Given the description of an element on the screen output the (x, y) to click on. 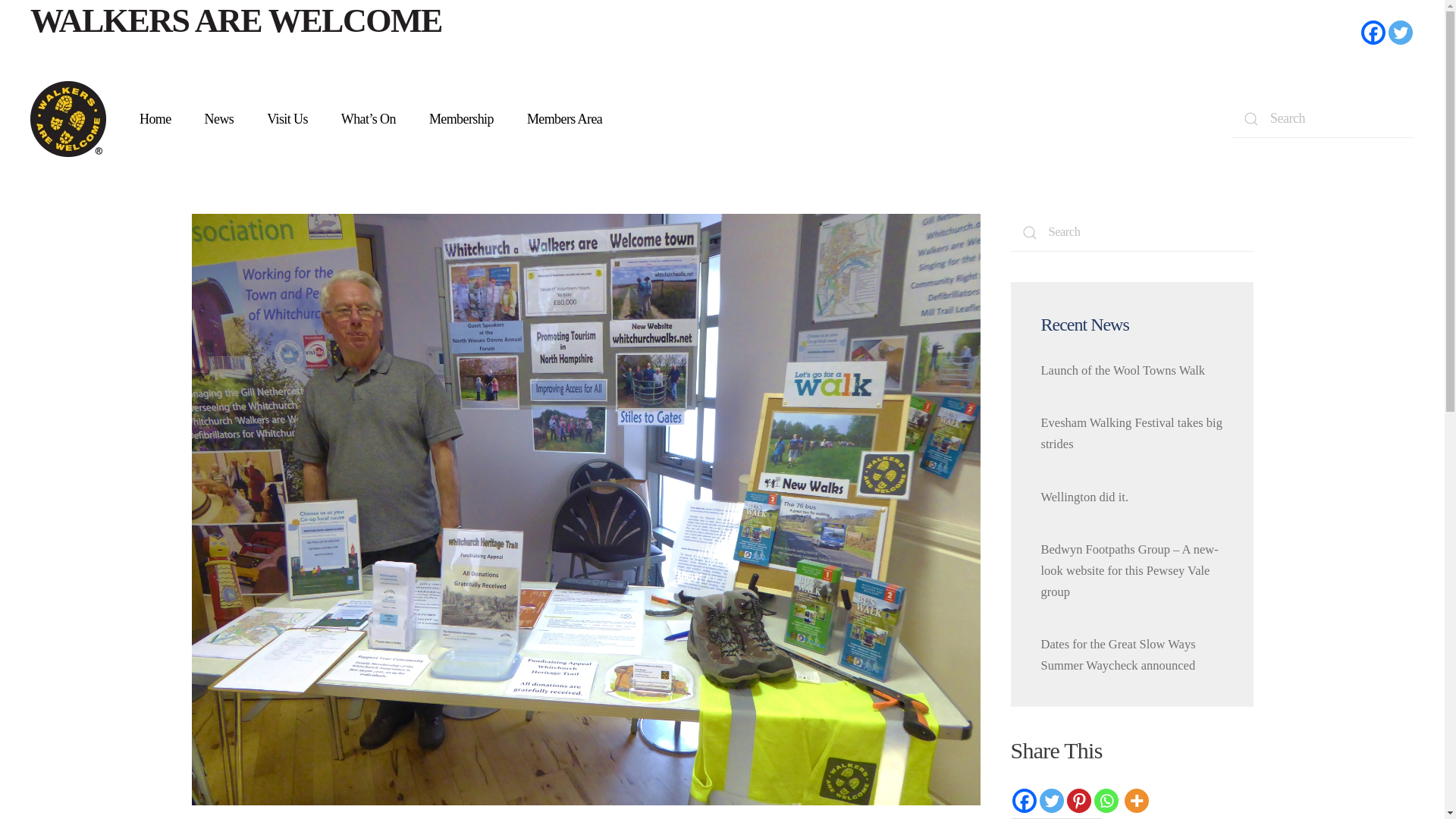
Facebook (1373, 32)
Home (155, 119)
Facebook (1023, 800)
More (1136, 800)
Pinterest (1077, 800)
News (219, 119)
WALKERS ARE WELCOME (236, 20)
Twitter (1050, 800)
Visit Us (286, 119)
Whatsapp (1105, 800)
Twitter (1400, 32)
